Given the description of an element on the screen output the (x, y) to click on. 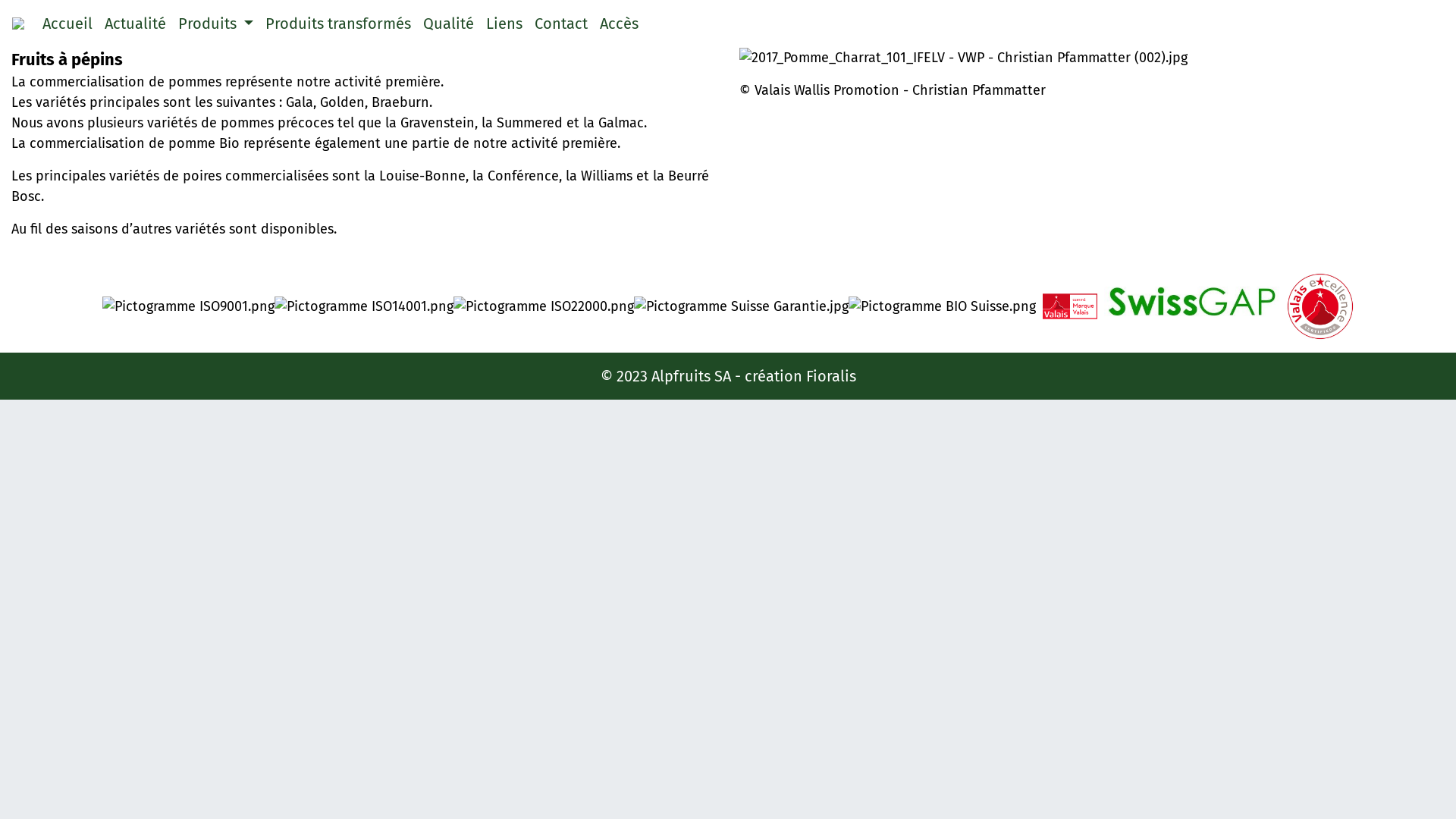
Pictogramme ISO14001.png Element type: hover (363, 305)
Pictogramme Valais Excellence (002).jpg Element type: hover (1320, 306)
Accueil Element type: text (67, 23)
Liens Element type: text (504, 23)
Pictogramme BIO Suisse.png Element type: hover (941, 305)
Pictogramme Marque Valais.png Element type: hover (1069, 306)
Pictogramme ISO22000.png Element type: hover (543, 305)
Fioralis Element type: text (830, 376)
Pictogramme Swiss Gap.jpg Element type: hover (1195, 306)
Contact Element type: text (560, 23)
Pictogramme ISO9001.png Element type: hover (187, 305)
Produits Element type: text (215, 23)
Pictogramme Suisse Garantie.jpg Element type: hover (740, 305)
